Given the description of an element on the screen output the (x, y) to click on. 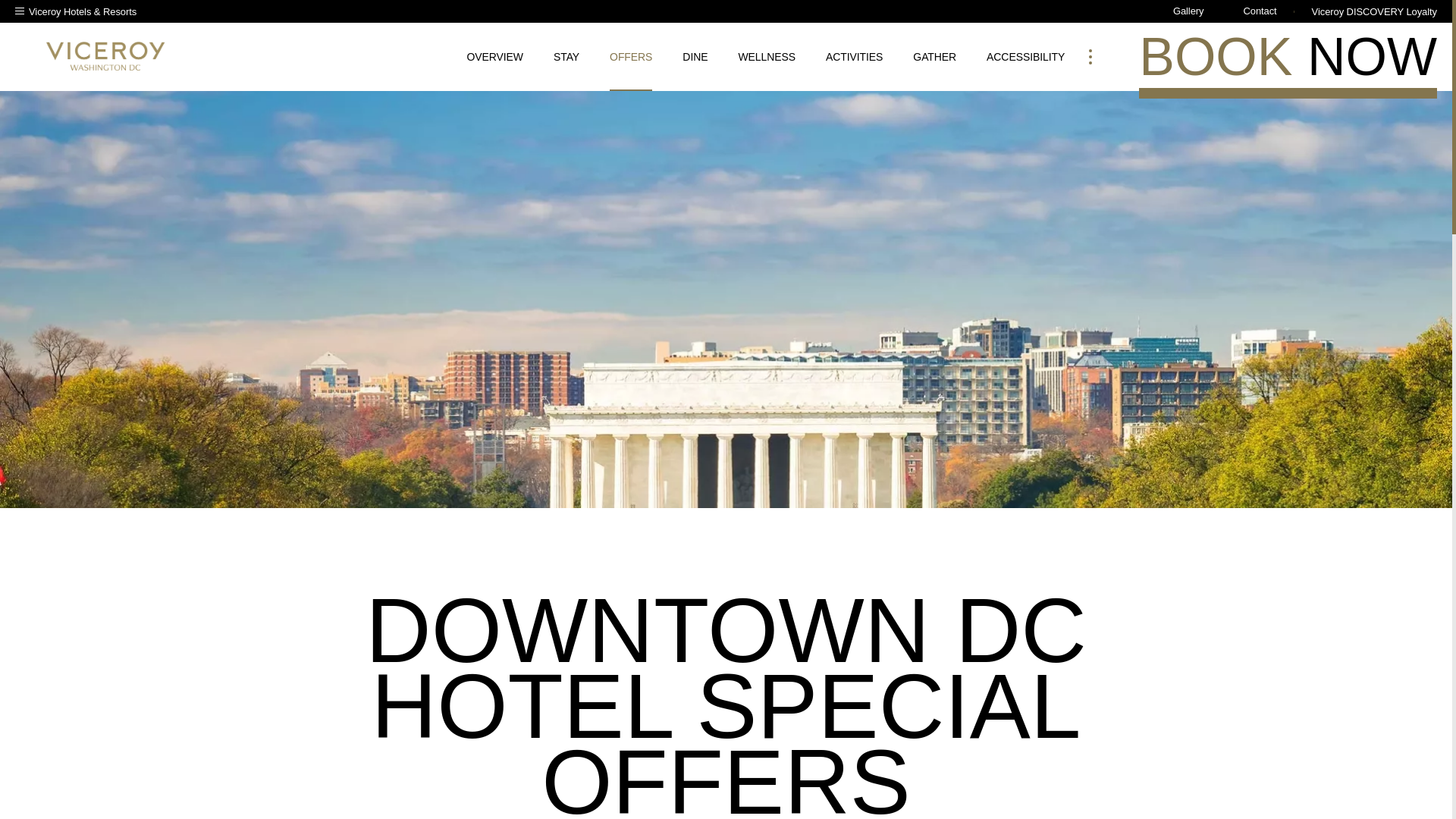
Contact (1259, 9)
Viceroy DISCOVERY Loyalty (1365, 11)
Gallery (1188, 9)
